Given the description of an element on the screen output the (x, y) to click on. 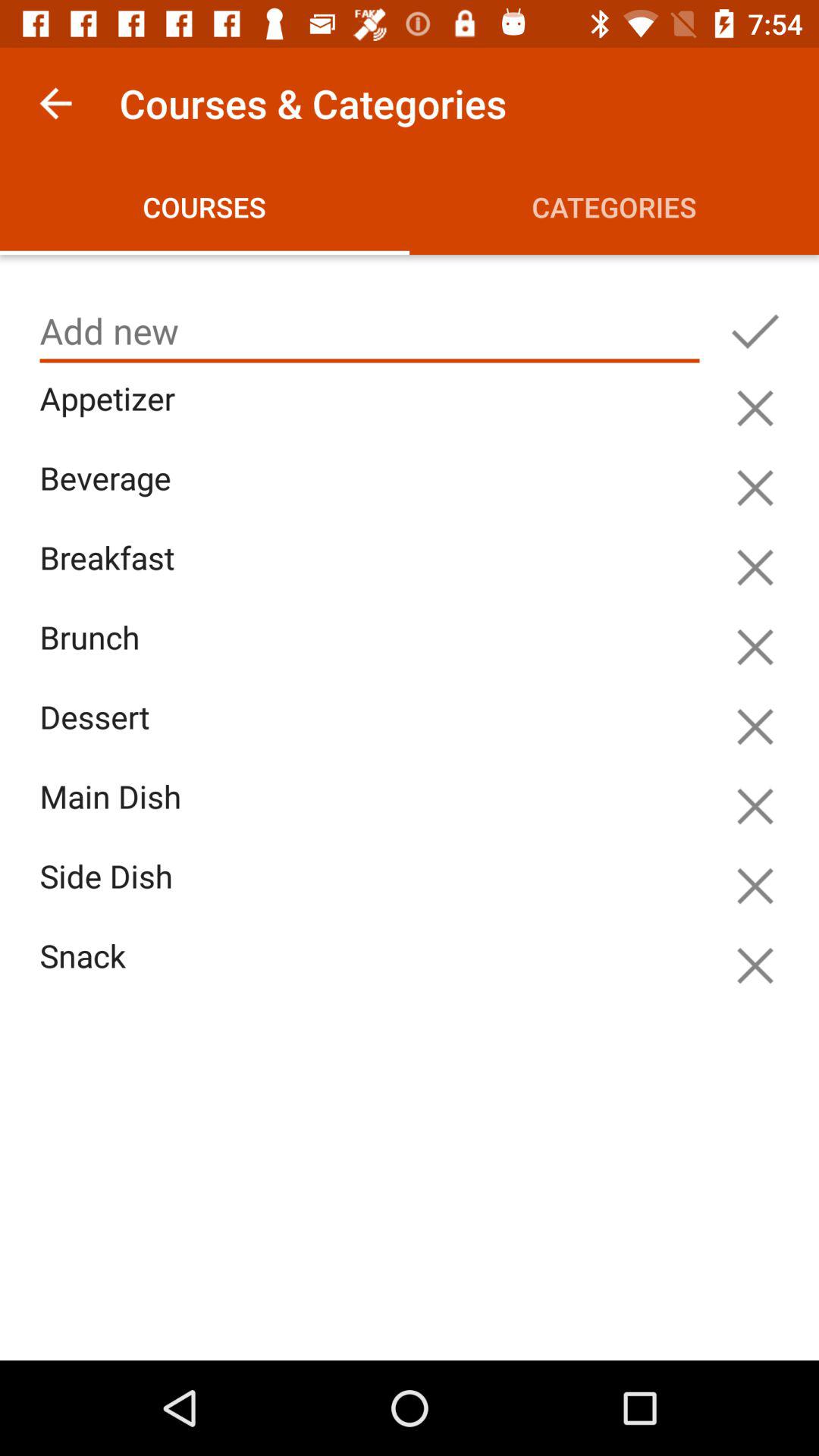
hide this item (755, 647)
